Given the description of an element on the screen output the (x, y) to click on. 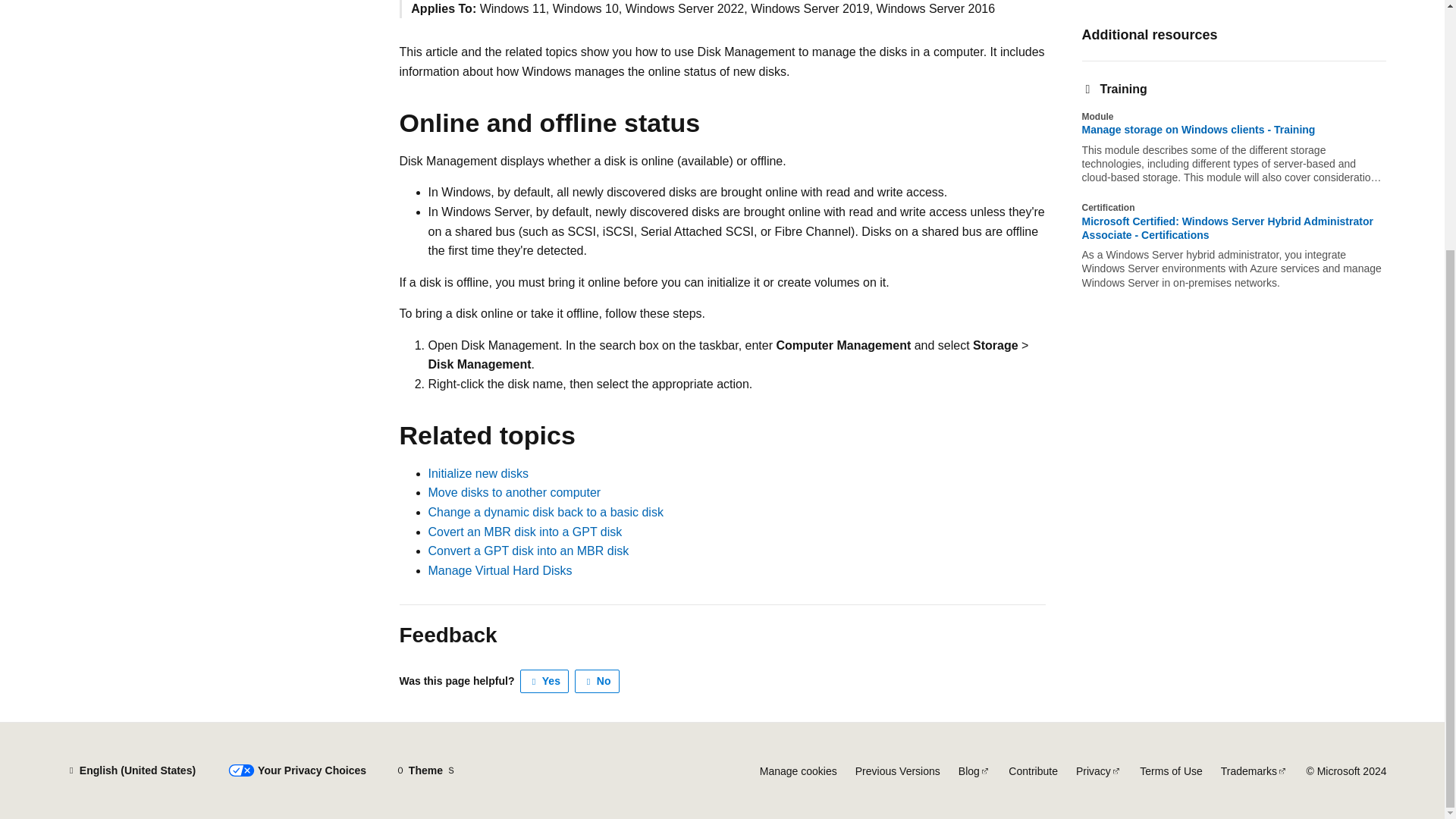
Yes (544, 681)
Initialize new disks (478, 472)
Covert an MBR disk into a GPT disk (524, 531)
Convert a GPT disk into an MBR disk (528, 550)
Manage Virtual Hard Disks (500, 570)
Move disks to another computer (513, 492)
Change a dynamic disk back to a basic disk (545, 512)
No (597, 681)
This article is not helpful (597, 681)
This article is helpful (544, 681)
Theme (425, 770)
